Given the description of an element on the screen output the (x, y) to click on. 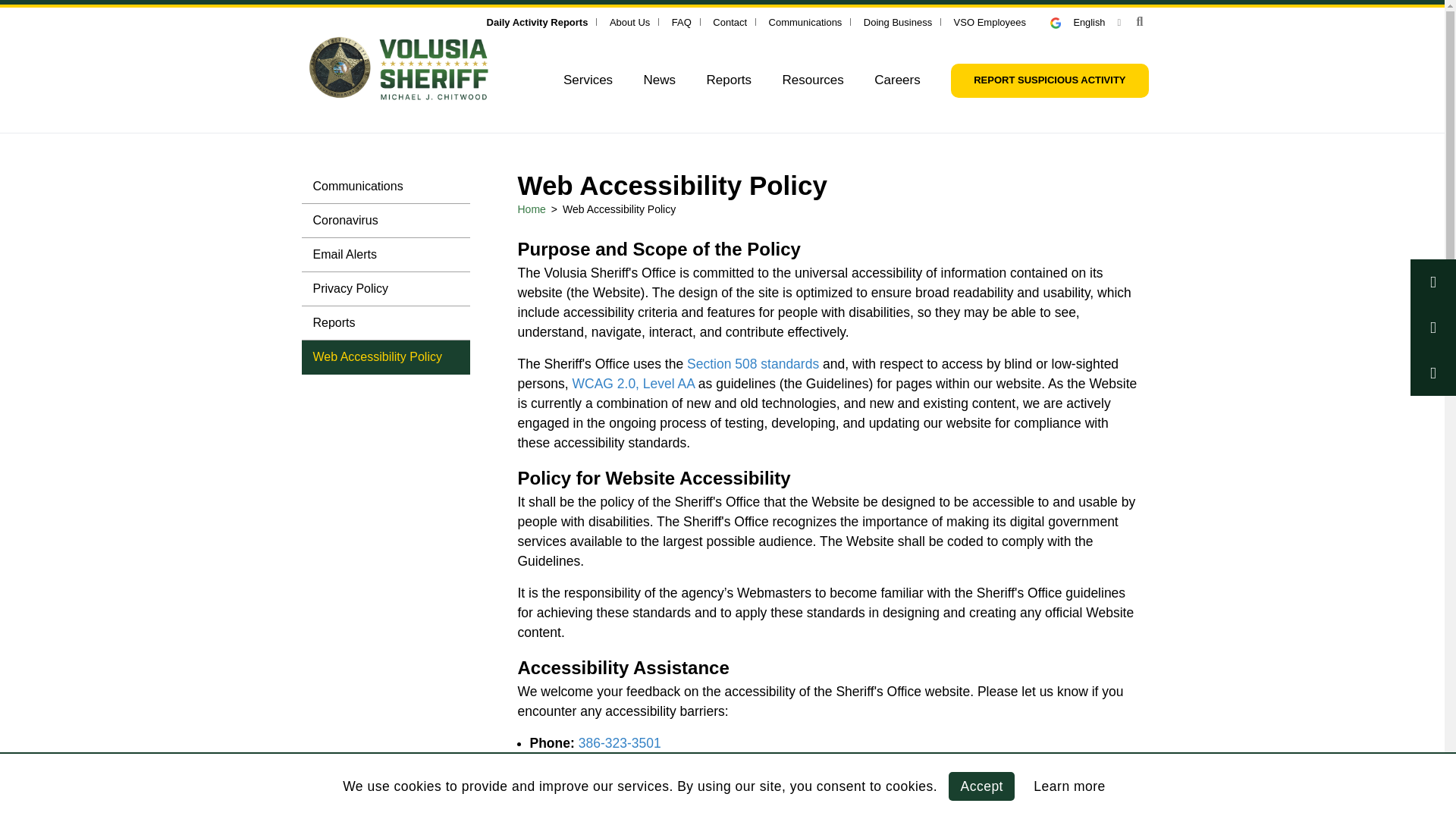
About Us (629, 21)
Doing Business (897, 21)
English (1085, 21)
Communications (805, 21)
Translate (1061, 22)
FAQ (681, 21)
VSO Employees (989, 21)
Daily Activity Reports (537, 21)
Translate (1085, 21)
Contact (729, 21)
